Given the description of an element on the screen output the (x, y) to click on. 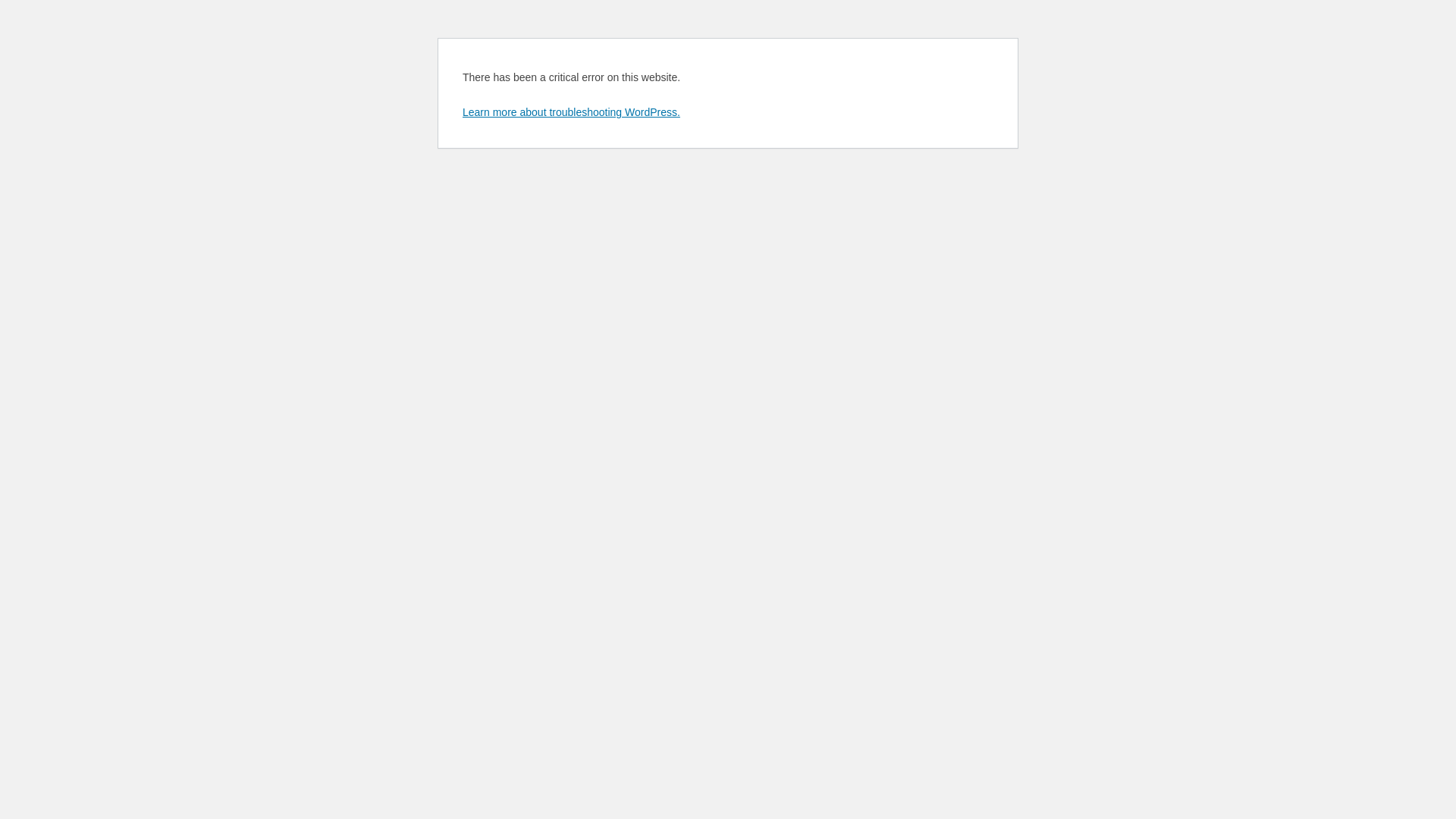
Learn more about troubleshooting WordPress. Element type: text (571, 112)
